Given the description of an element on the screen output the (x, y) to click on. 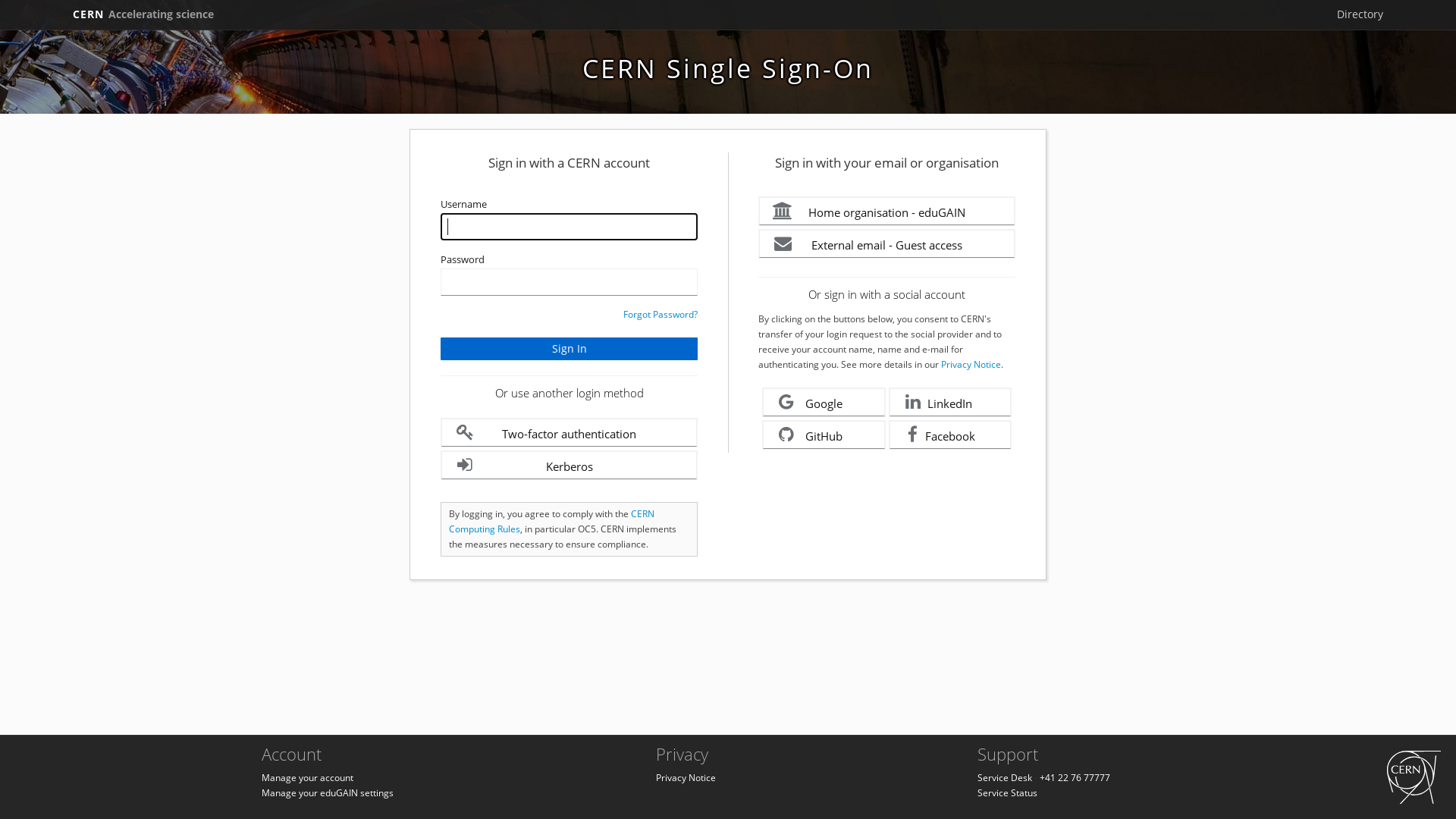
Home organisation - eduGAIN Element type: text (886, 210)
Privacy Notice Element type: text (971, 363)
Google Element type: text (823, 402)
External email - Guest access Element type: text (886, 243)
Service Desk Element type: text (1004, 777)
Kerberos Element type: text (568, 465)
Directory Element type: text (1359, 14)
Manage your eduGAIN settings Element type: text (327, 792)
Sign In Element type: text (568, 348)
Manage your account Element type: text (307, 777)
CERN Accelerating science Element type: text (142, 14)
Two-factor authentication Element type: text (568, 432)
CERN Computing Rules Element type: text (551, 521)
GitHub Element type: text (823, 434)
Service Status Element type: text (1007, 792)
Forgot Password? Element type: text (660, 313)
Privacy Notice Element type: text (685, 777)
Facebook Element type: text (950, 434)
+41 22 76 77777 Element type: text (1074, 777)
LinkedIn Element type: text (950, 402)
